Given the description of an element on the screen output the (x, y) to click on. 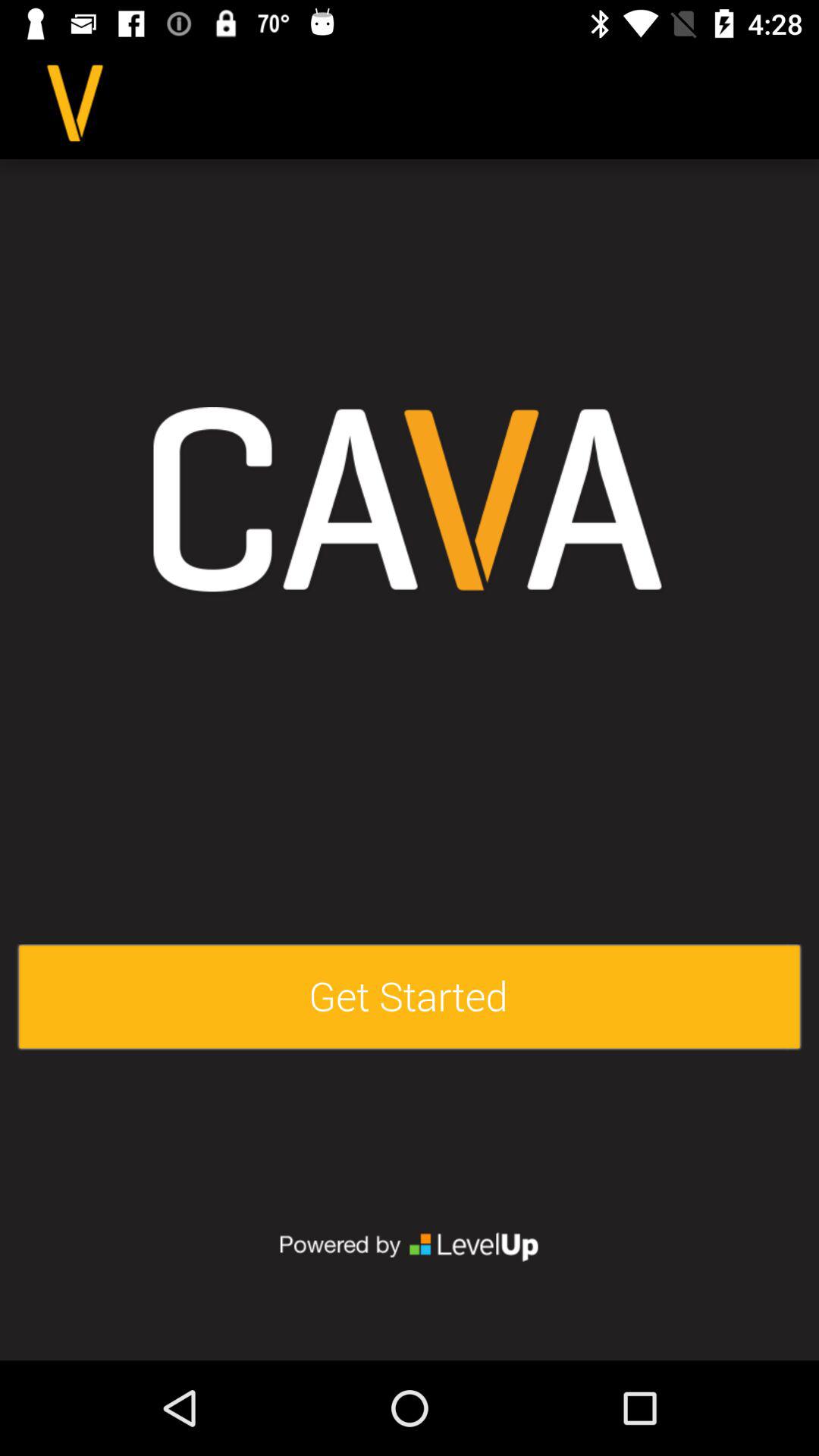
swipe until get started (409, 997)
